Given the description of an element on the screen output the (x, y) to click on. 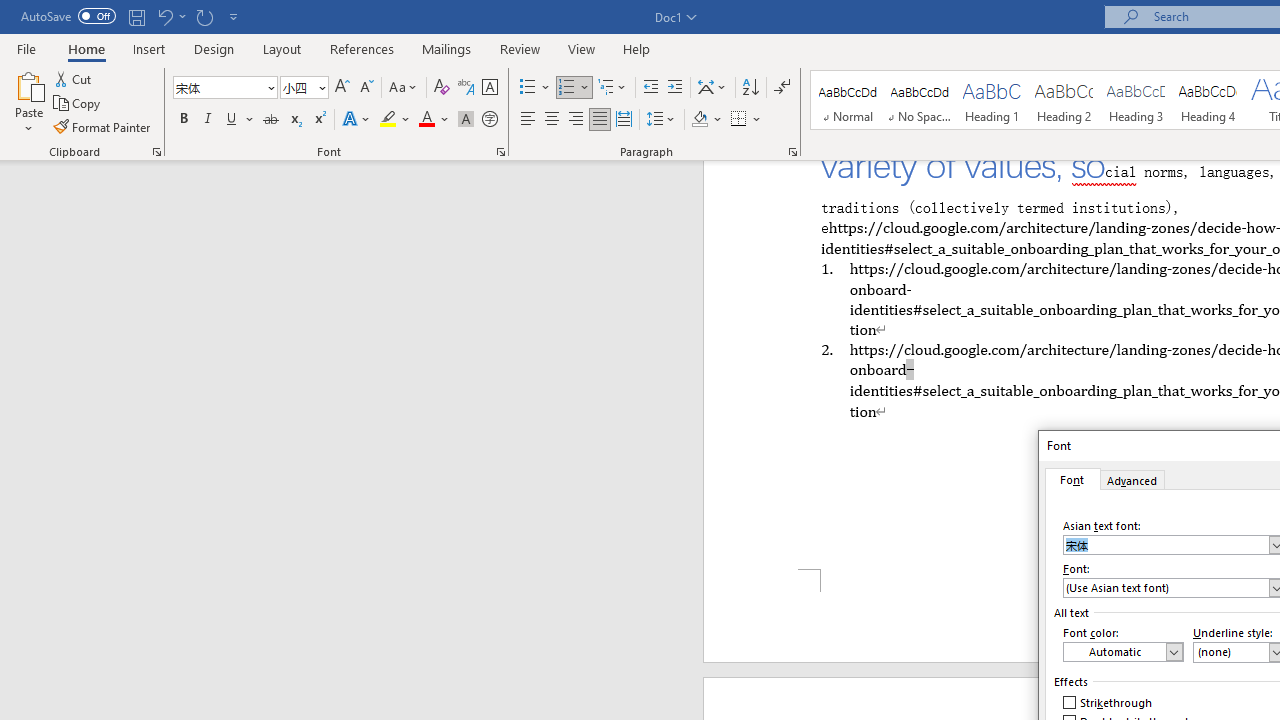
Format Painter (103, 126)
Decrease Indent (650, 87)
Change Case (404, 87)
Text Highlight Color (395, 119)
Bold (183, 119)
Advanced (1133, 479)
Superscript (319, 119)
Italic (207, 119)
Justify (599, 119)
